Given the description of an element on the screen output the (x, y) to click on. 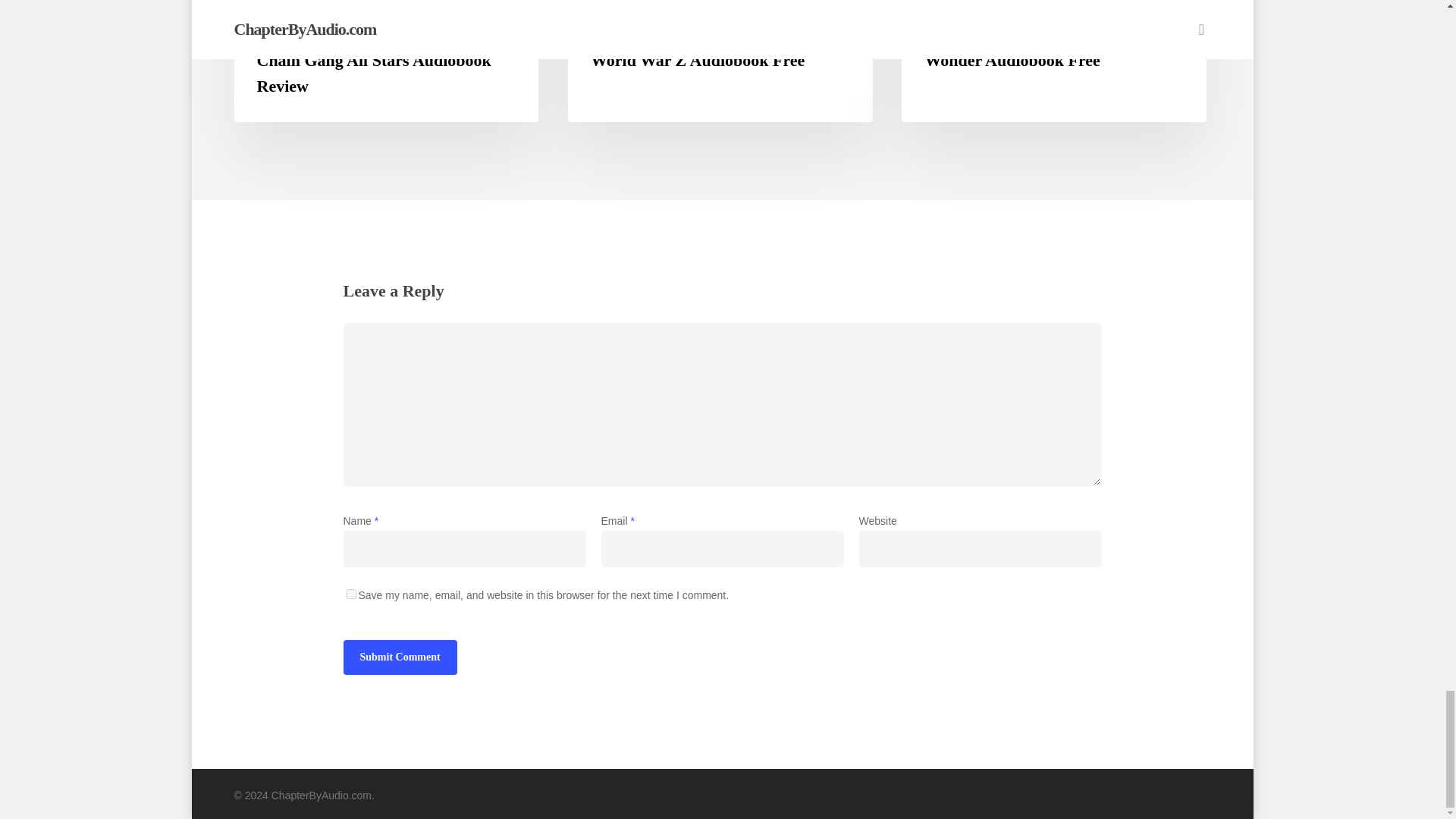
Submit Comment (399, 656)
yes (350, 593)
